Given the description of an element on the screen output the (x, y) to click on. 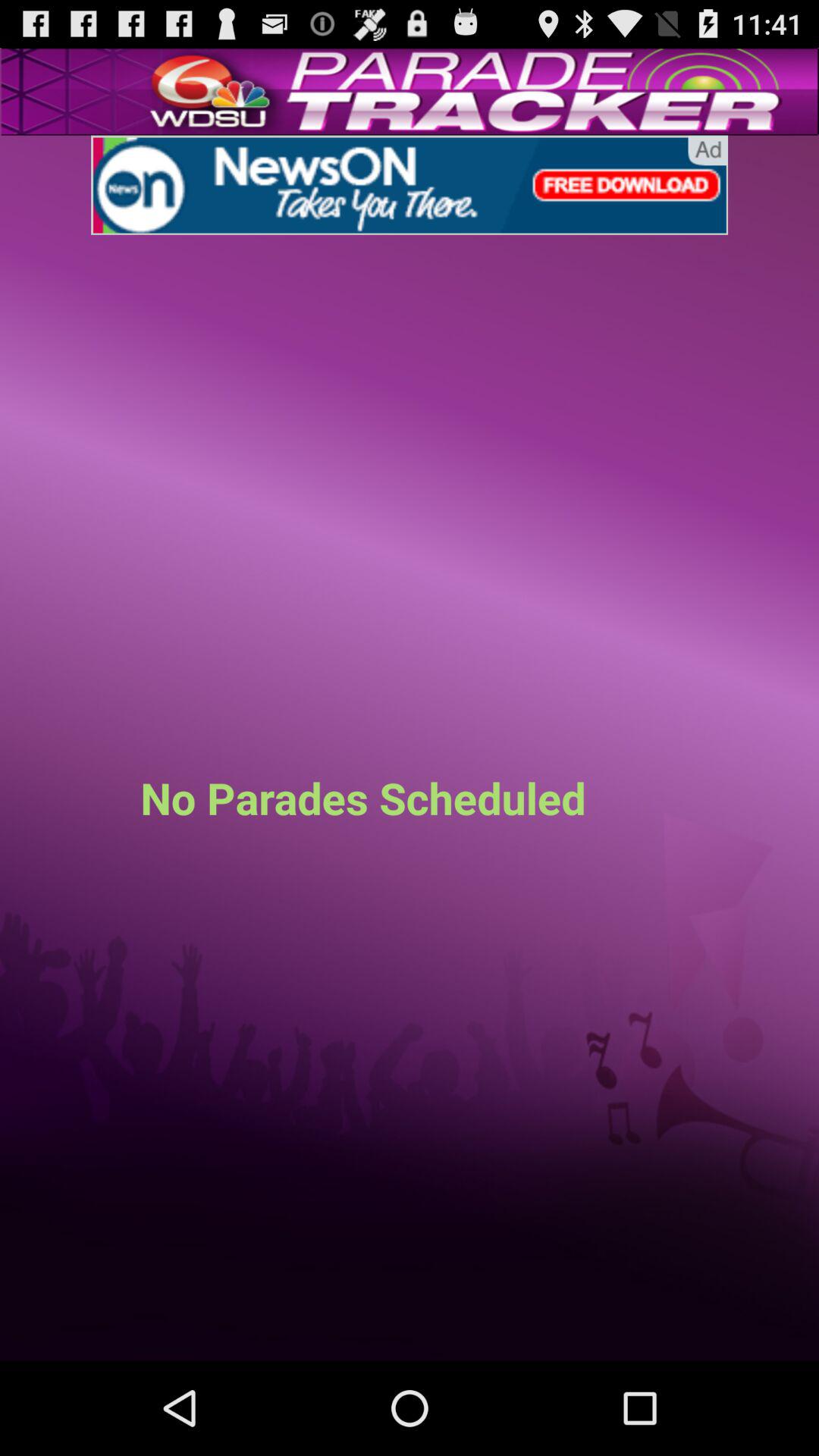
download the app (409, 184)
